Given the description of an element on the screen output the (x, y) to click on. 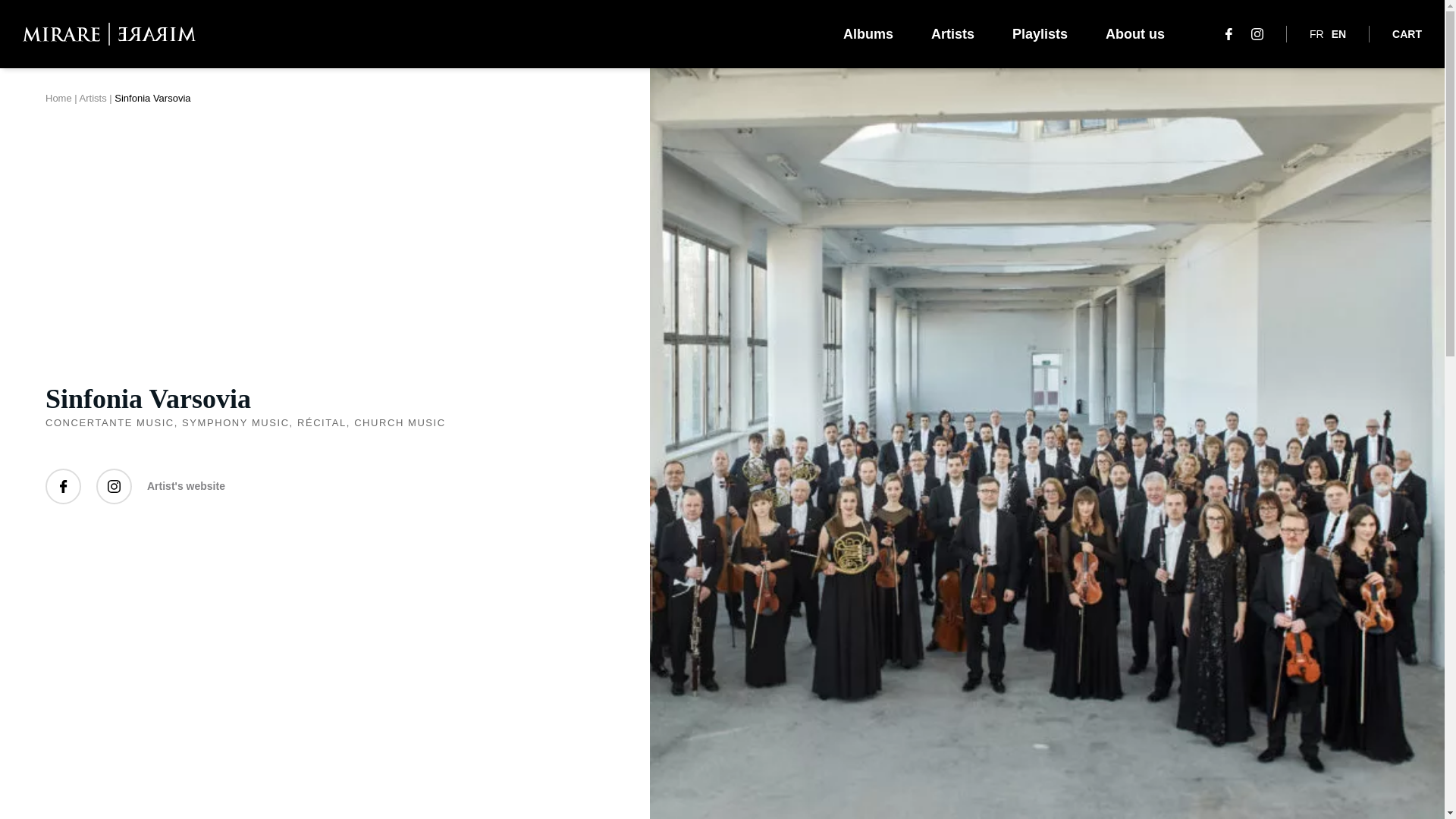
Artists (93, 98)
About us (1134, 33)
Home (58, 98)
CART (1406, 33)
Artists (952, 33)
Albums (868, 33)
Playlists (1039, 33)
Artist's website (186, 486)
